Given the description of an element on the screen output the (x, y) to click on. 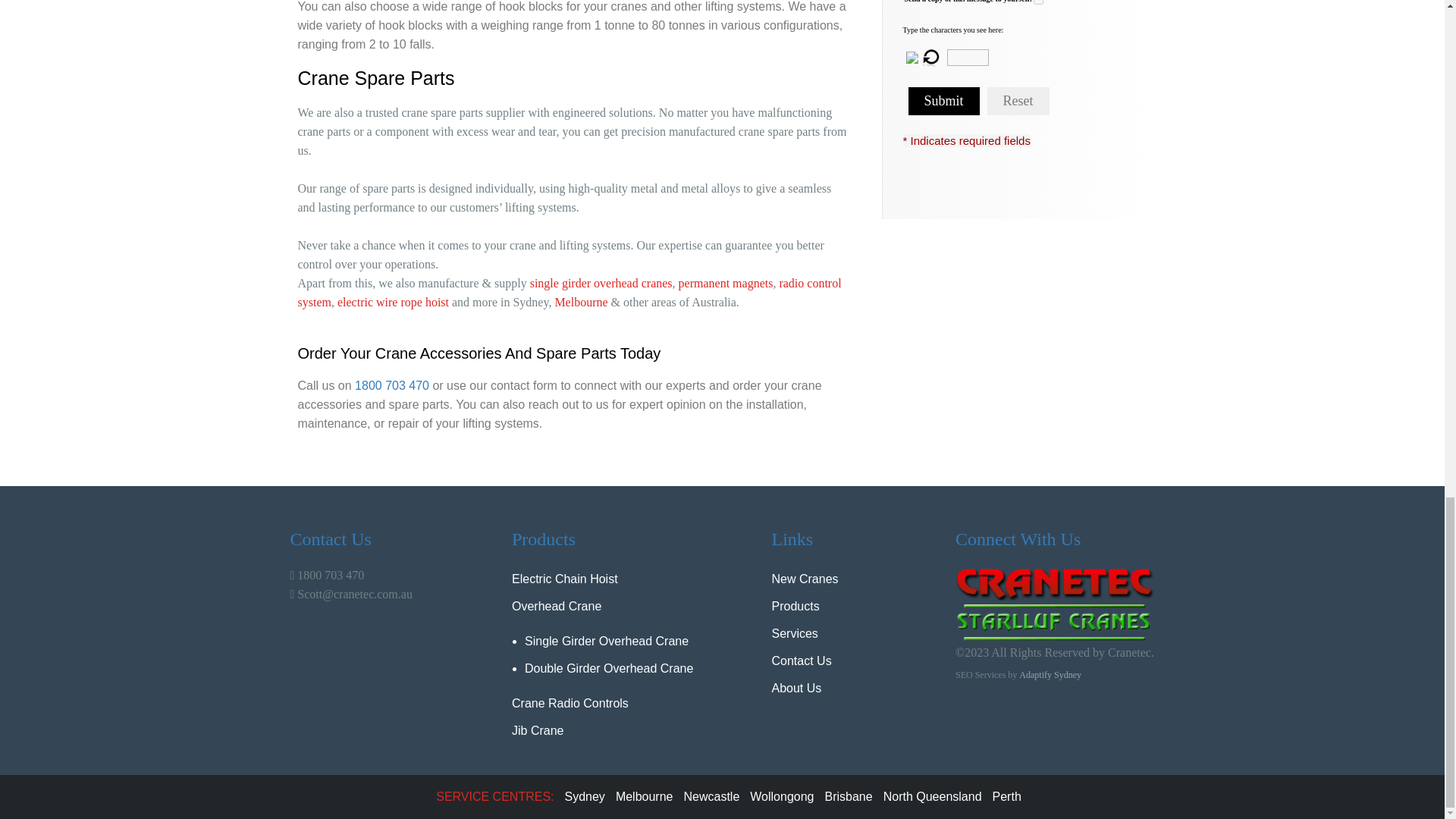
on (1038, 2)
single girder overhead cranes (600, 282)
radio control system (569, 292)
electric wire rope hoist (392, 301)
permanent magnets (725, 282)
1800 703 470 (392, 385)
Melbourne (580, 301)
